Given the description of an element on the screen output the (x, y) to click on. 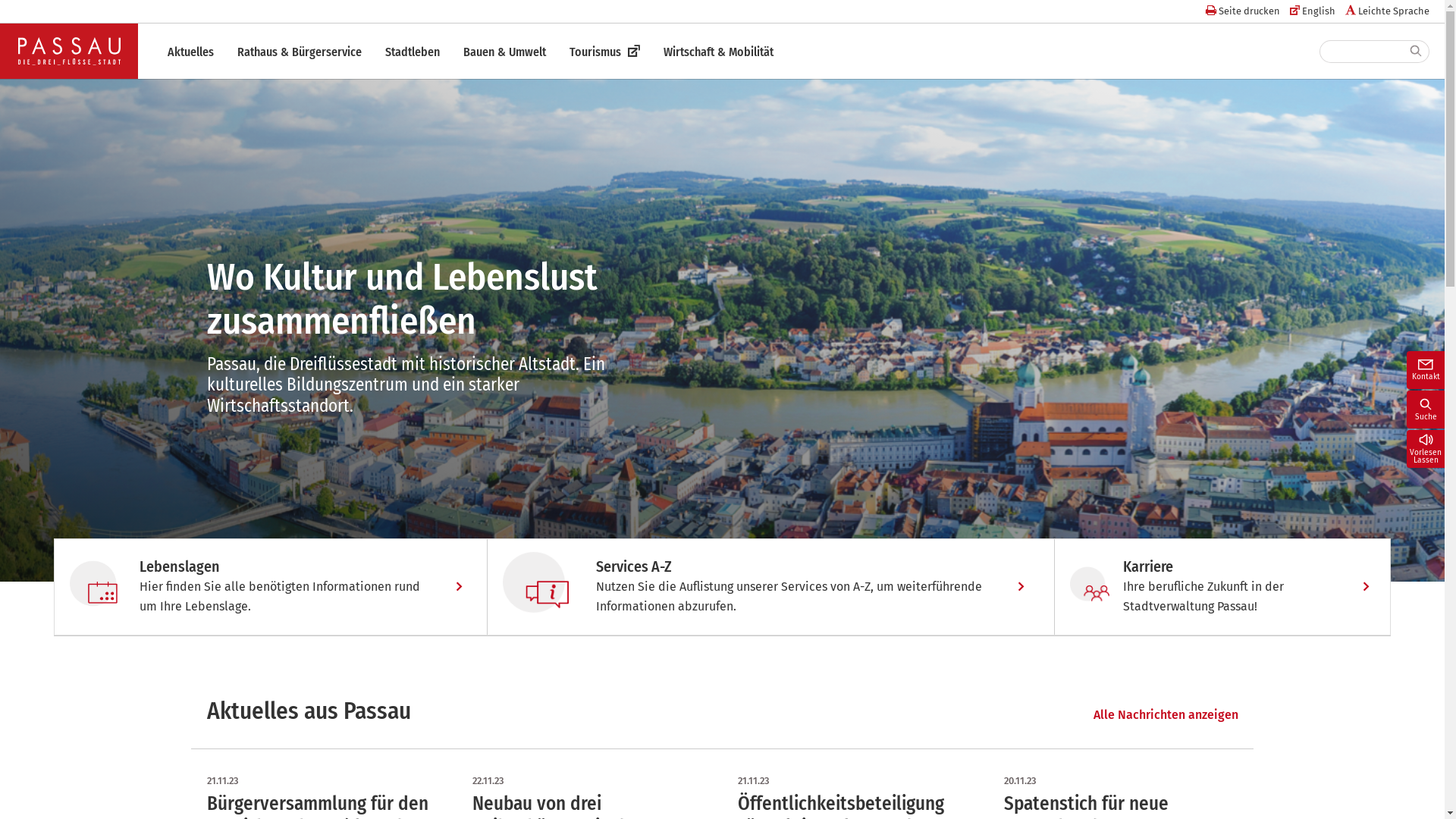
Suche Element type: text (1425, 409)
Bauen & Umwelt Element type: text (504, 52)
Stadtleben Element type: text (412, 52)
Aktuelles Element type: text (190, 52)
Seite drucken Element type: text (1242, 10)
English Element type: text (1312, 10)
Leichte Sprache Element type: text (1387, 10)
Kontakt Element type: text (1425, 370)
Alle Nachrichten anzeigen Element type: text (1165, 714)
Tourismus Element type: text (604, 52)
